Given the description of an element on the screen output the (x, y) to click on. 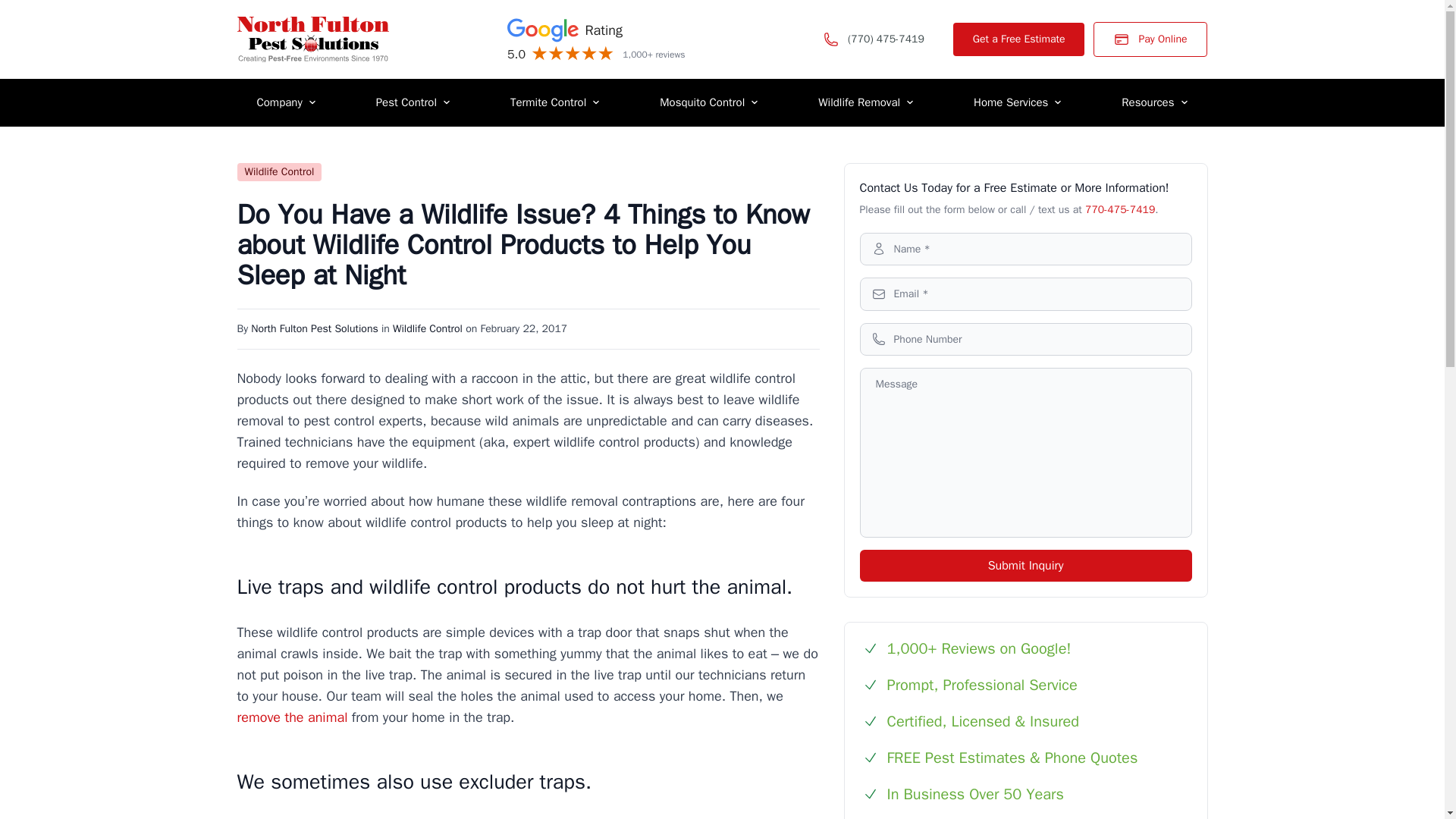
Submit Inquiry (1026, 565)
Termite Control (555, 102)
770-475-7419 (1119, 209)
Pest Control (413, 102)
Home Services (1017, 102)
Wildlife Removal (865, 102)
Get a Free Estimate (1018, 39)
Wildlife Control (428, 327)
North Fulton Pest Solutions (313, 327)
Mosquito Control (708, 102)
remove the animal (291, 717)
Resources (1154, 102)
February 8th, 2022 (523, 327)
Pay Online (1150, 39)
Company (284, 102)
